Given the description of an element on the screen output the (x, y) to click on. 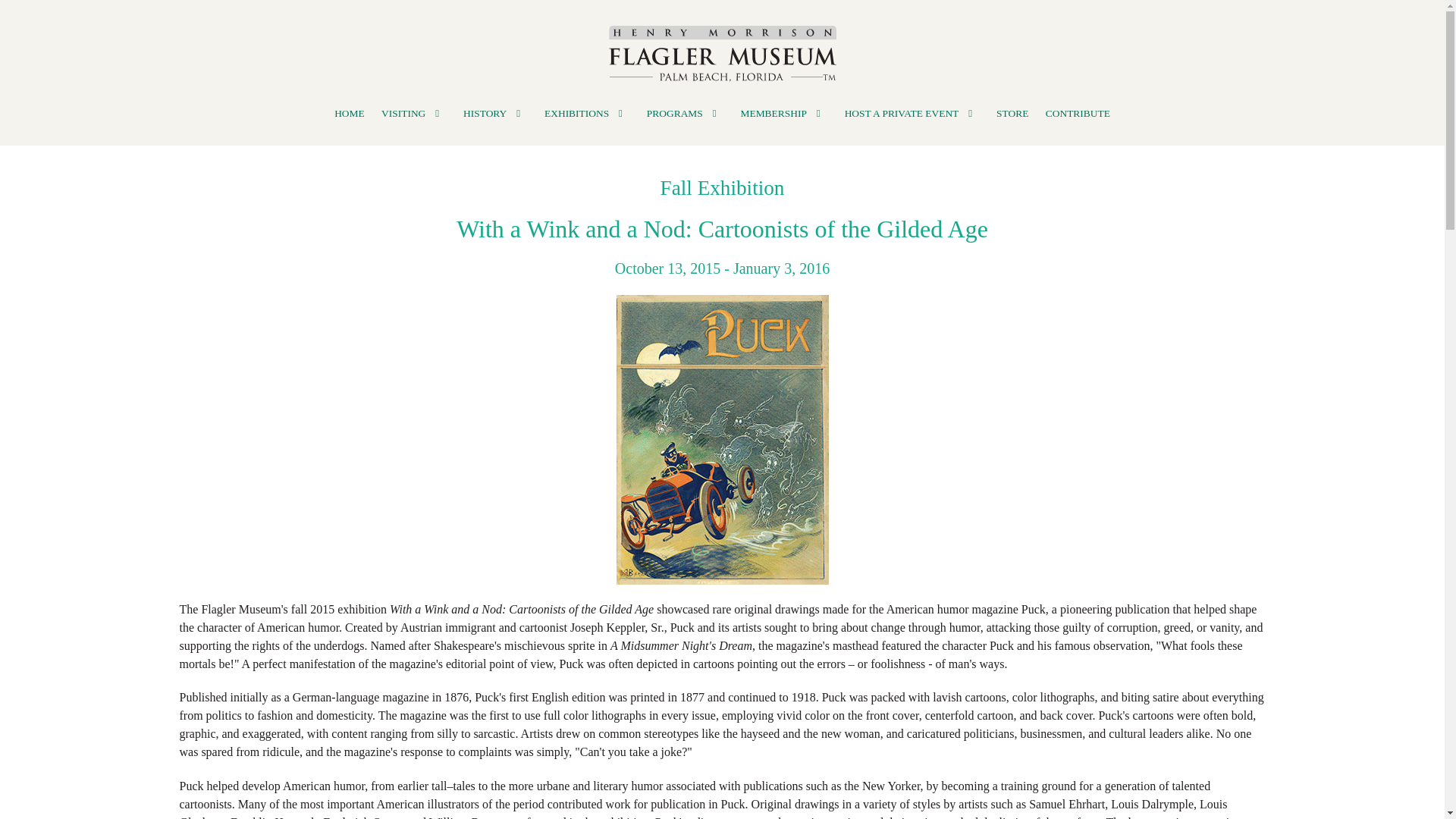
HOME (349, 113)
